Given the description of an element on the screen output the (x, y) to click on. 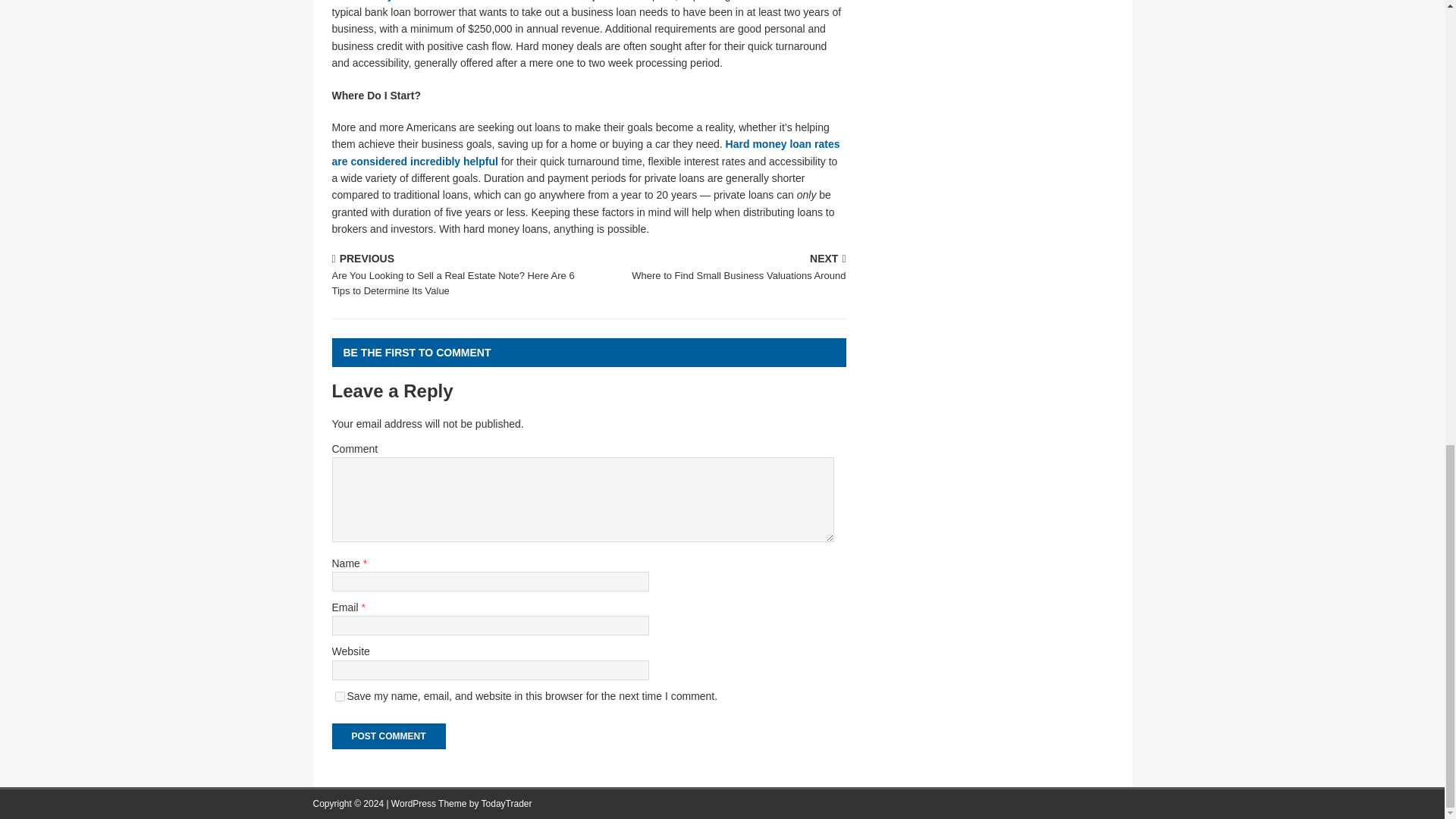
Post Comment (388, 736)
Hard money loan (585, 152)
Post Comment (388, 736)
TodayTrader (720, 268)
yes (506, 803)
Hard money loan rates are considered incredibly helpful (339, 696)
